Given the description of an element on the screen output the (x, y) to click on. 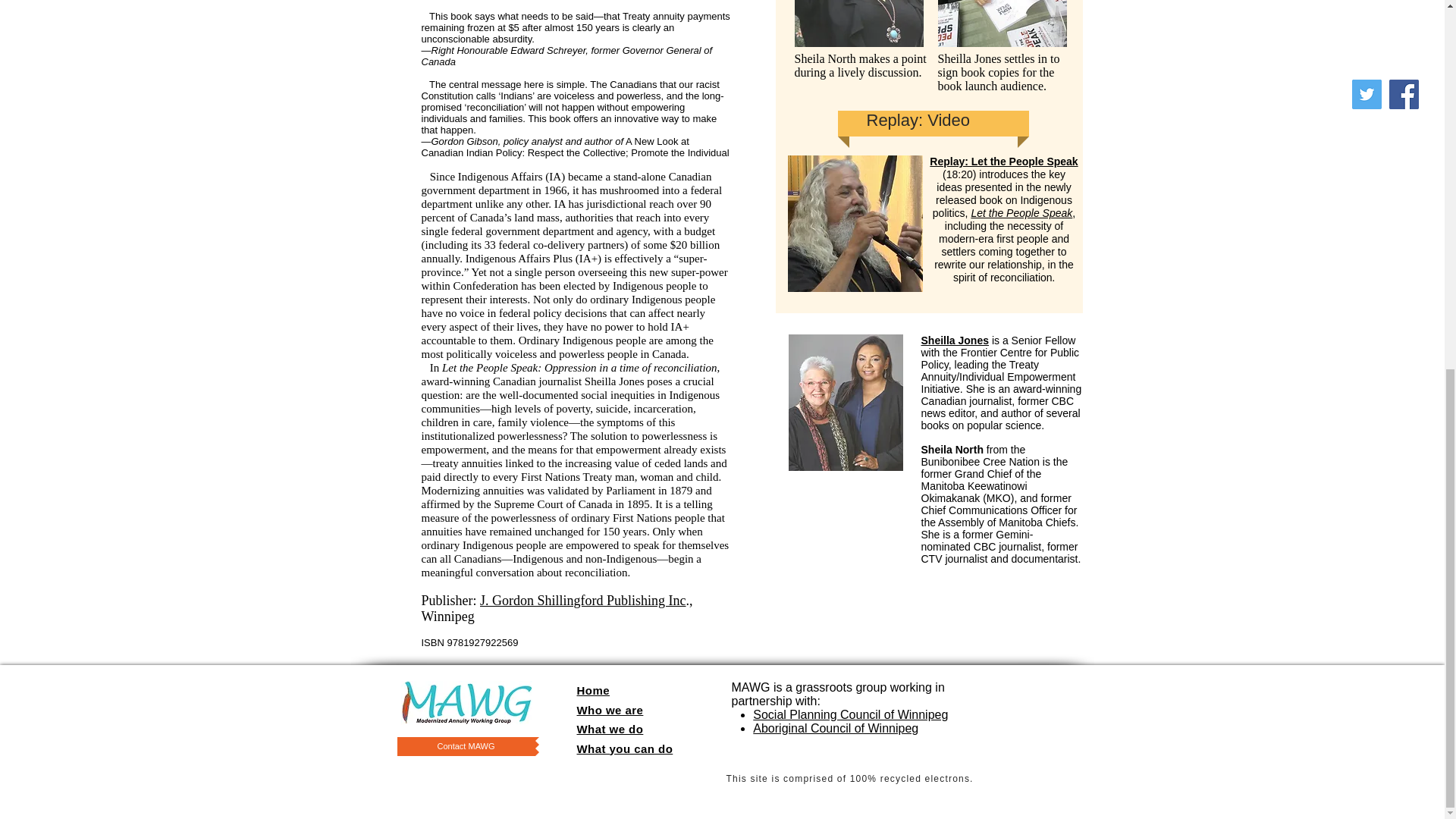
Aboriginal Council of Winnipeg (835, 727)
What we do (609, 728)
Let the People Speak (1021, 213)
Sheilla North at launch of Let the People Speak (858, 23)
Social Planning Council of Winnipeg (849, 714)
Sheilla Jones (954, 340)
Contact MAWG (466, 746)
J. Gordon Shillingford Publishing Inc (582, 600)
Replay: Let the People Speak (1003, 161)
Who we are (609, 708)
